Given the description of an element on the screen output the (x, y) to click on. 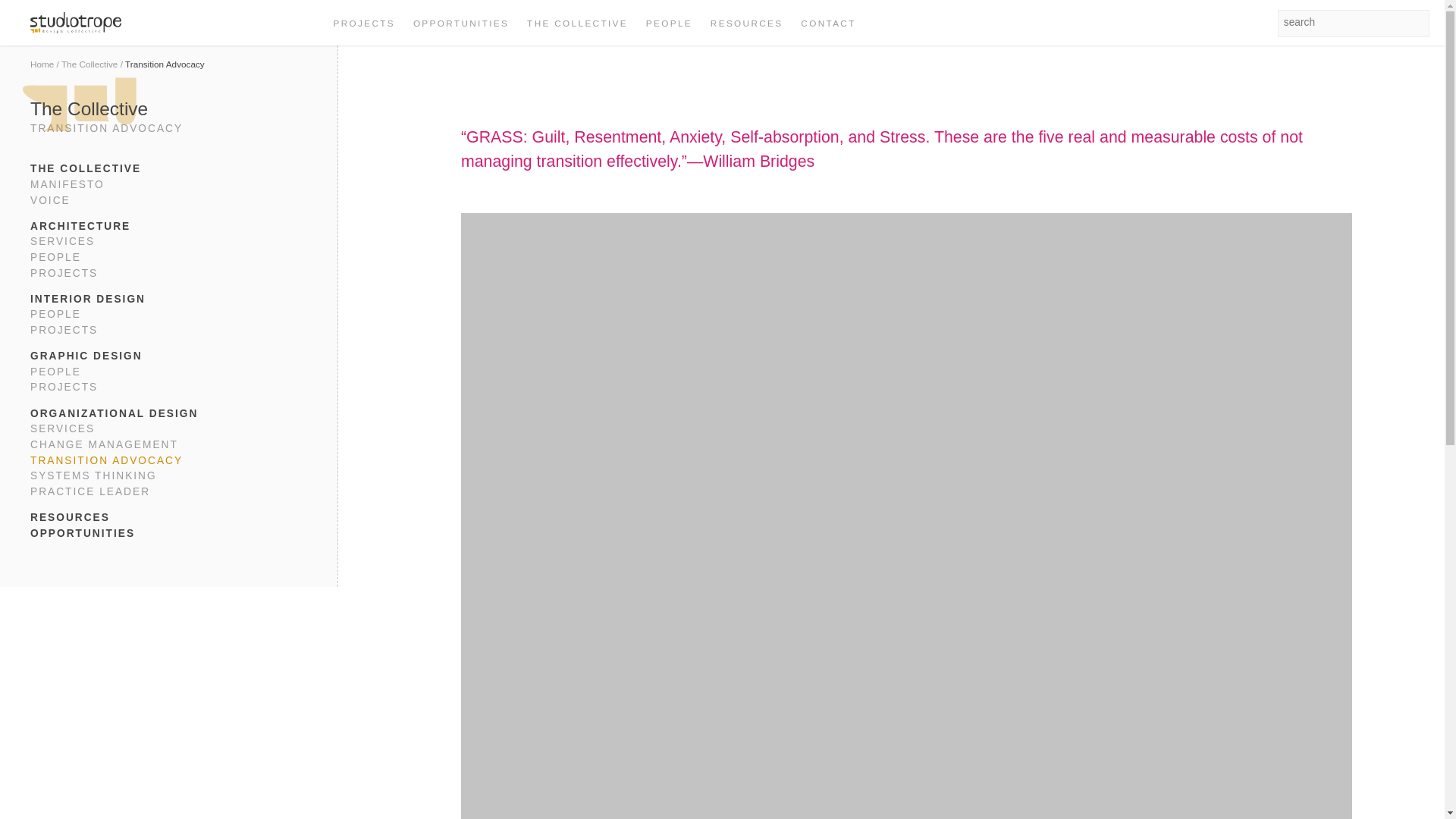
PEOPLE (168, 314)
RESOURCES (746, 22)
ARCHITECTURE (168, 227)
CONTACT (828, 22)
PEOPLE (168, 258)
The Collective (89, 63)
SERVICES (168, 429)
GRAPHIC DESIGN (168, 356)
Home (41, 63)
SERVICES (168, 242)
